Given the description of an element on the screen output the (x, y) to click on. 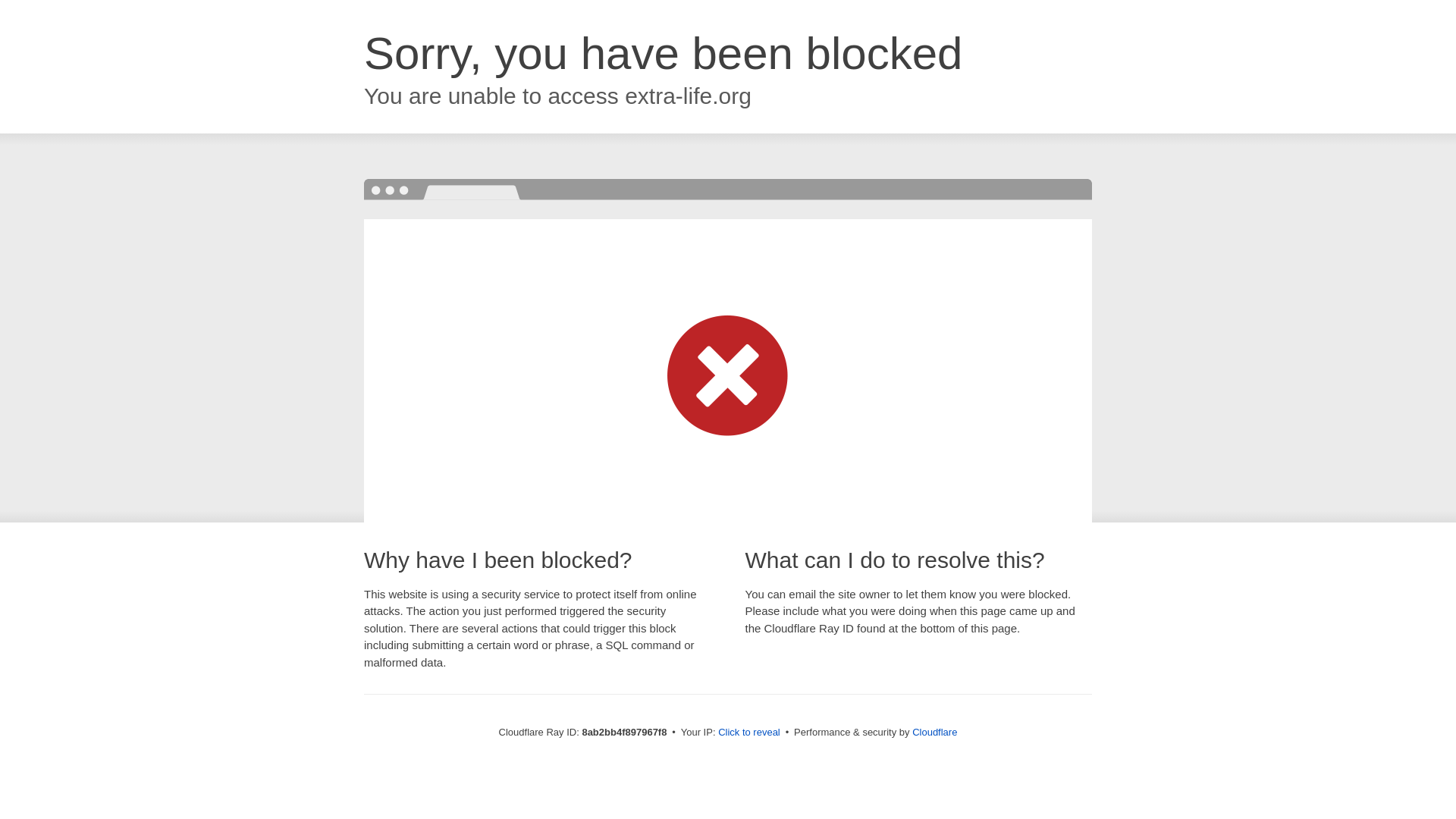
Cloudflare (934, 731)
Click to reveal (748, 732)
